Given the description of an element on the screen output the (x, y) to click on. 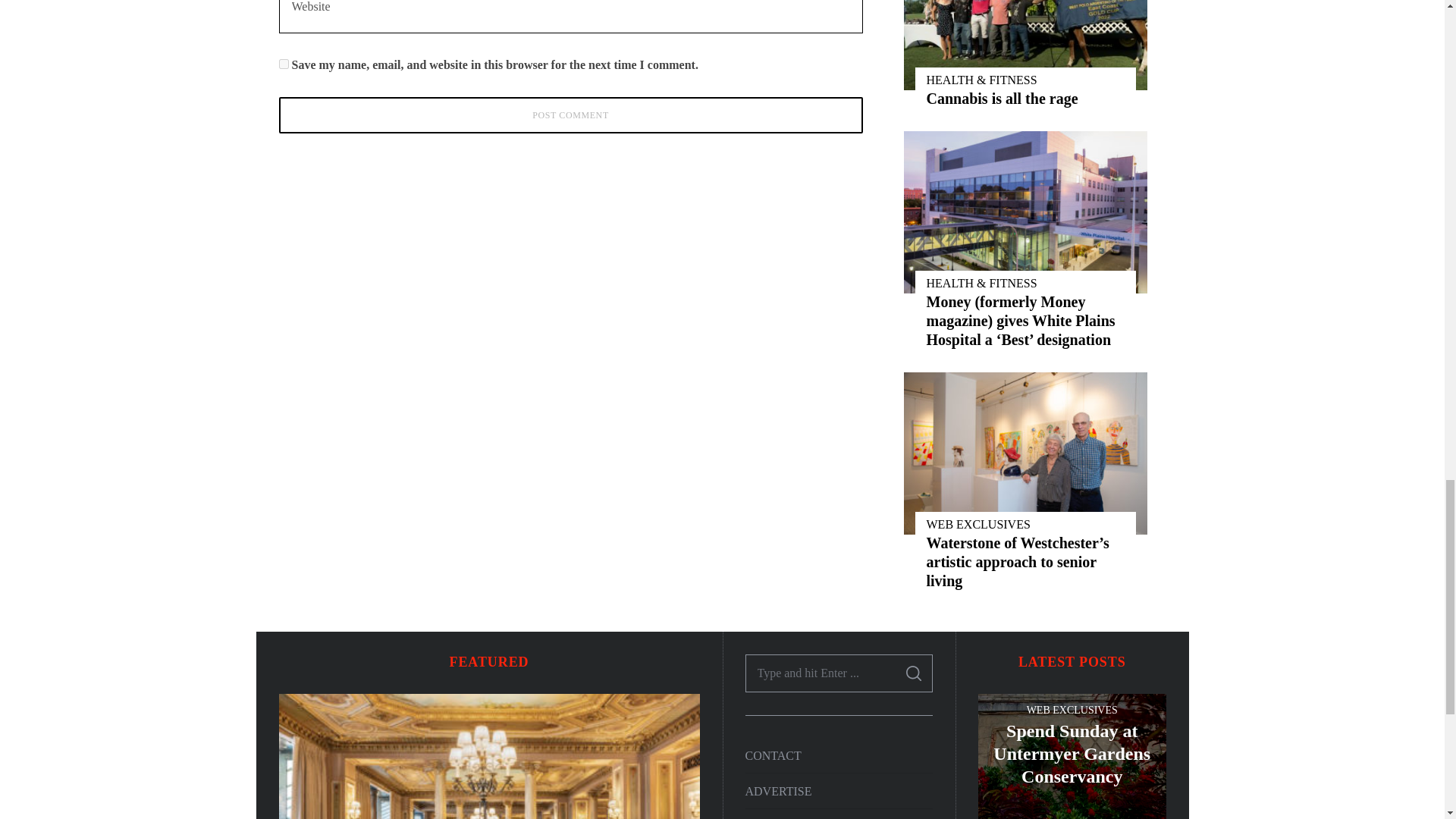
yes (283, 63)
Post Comment (571, 115)
